Given the description of an element on the screen output the (x, y) to click on. 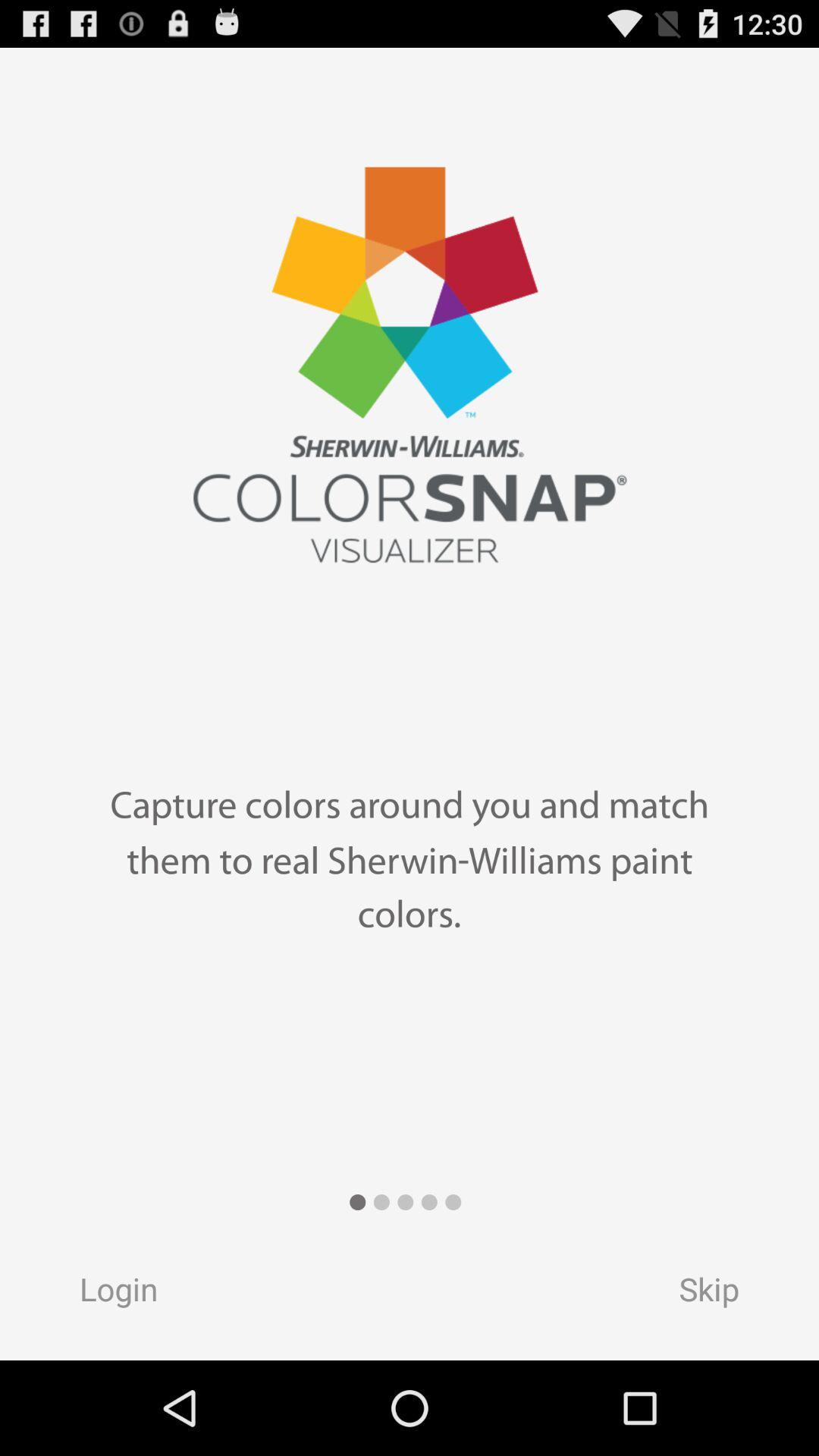
open login icon (104, 1293)
